Given the description of an element on the screen output the (x, y) to click on. 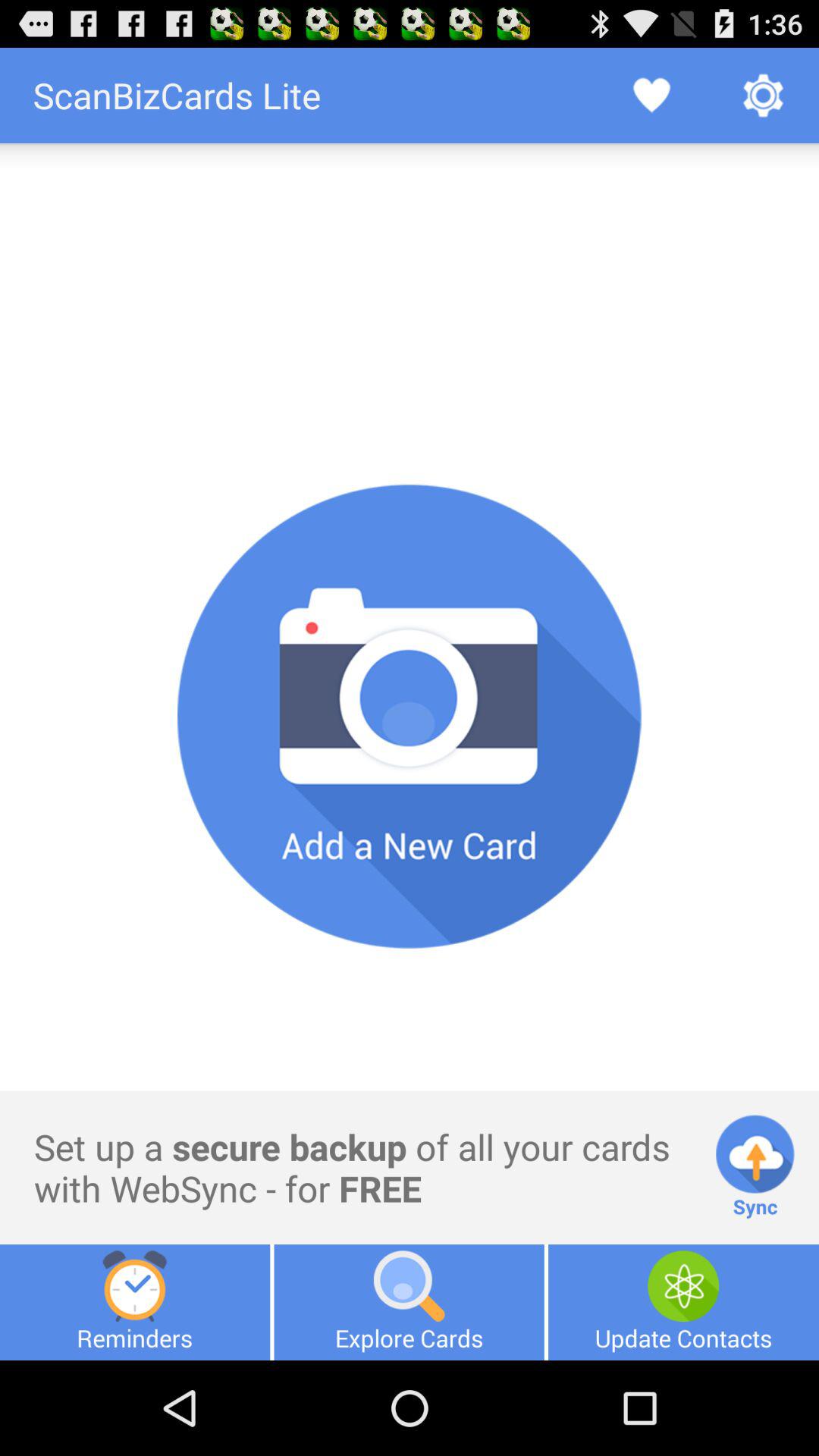
press the item to the left of the update contacts icon (409, 1302)
